Given the description of an element on the screen output the (x, y) to click on. 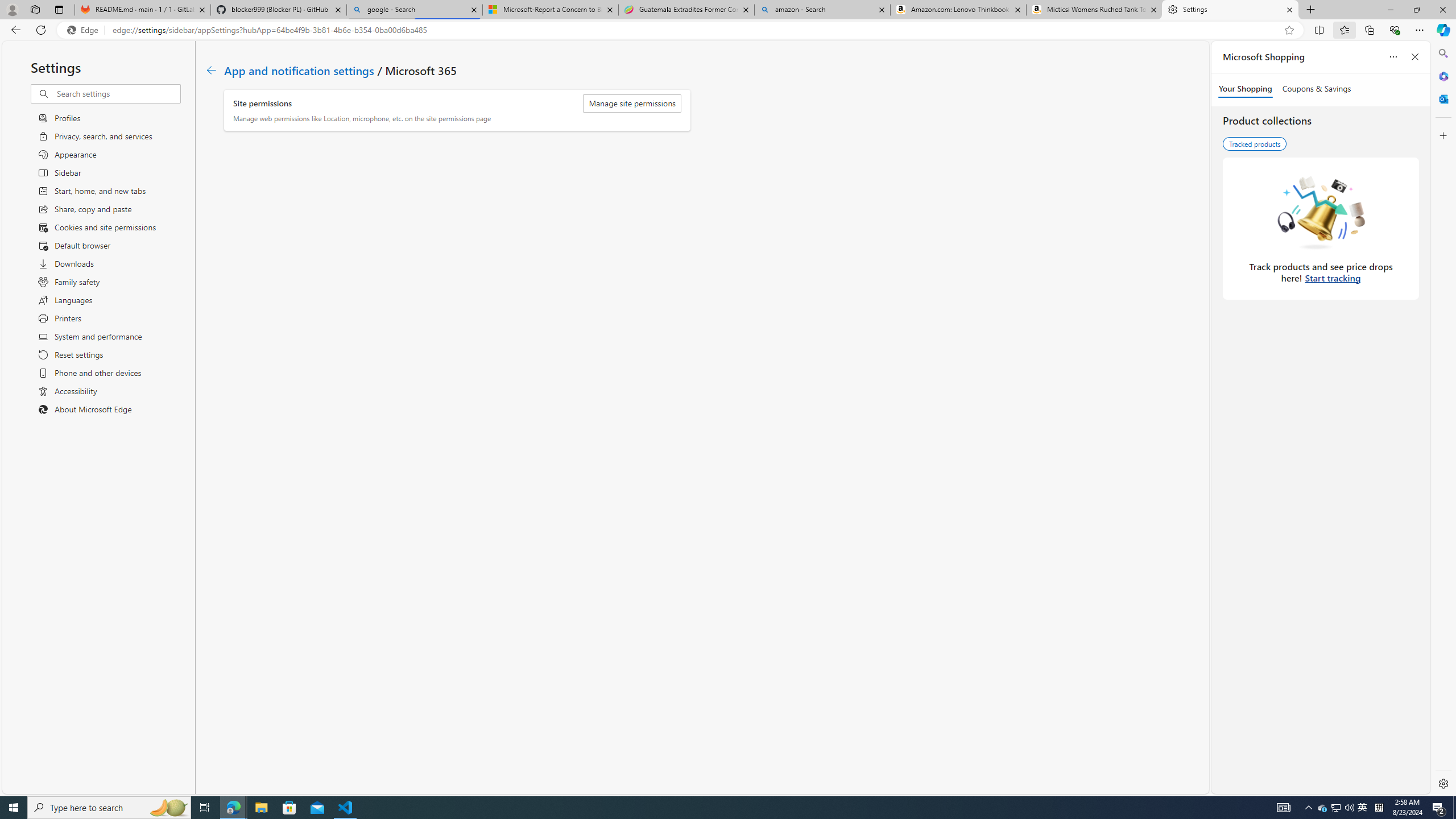
Edge (84, 29)
google - Search (414, 9)
amazon - Search (822, 9)
